Given the description of an element on the screen output the (x, y) to click on. 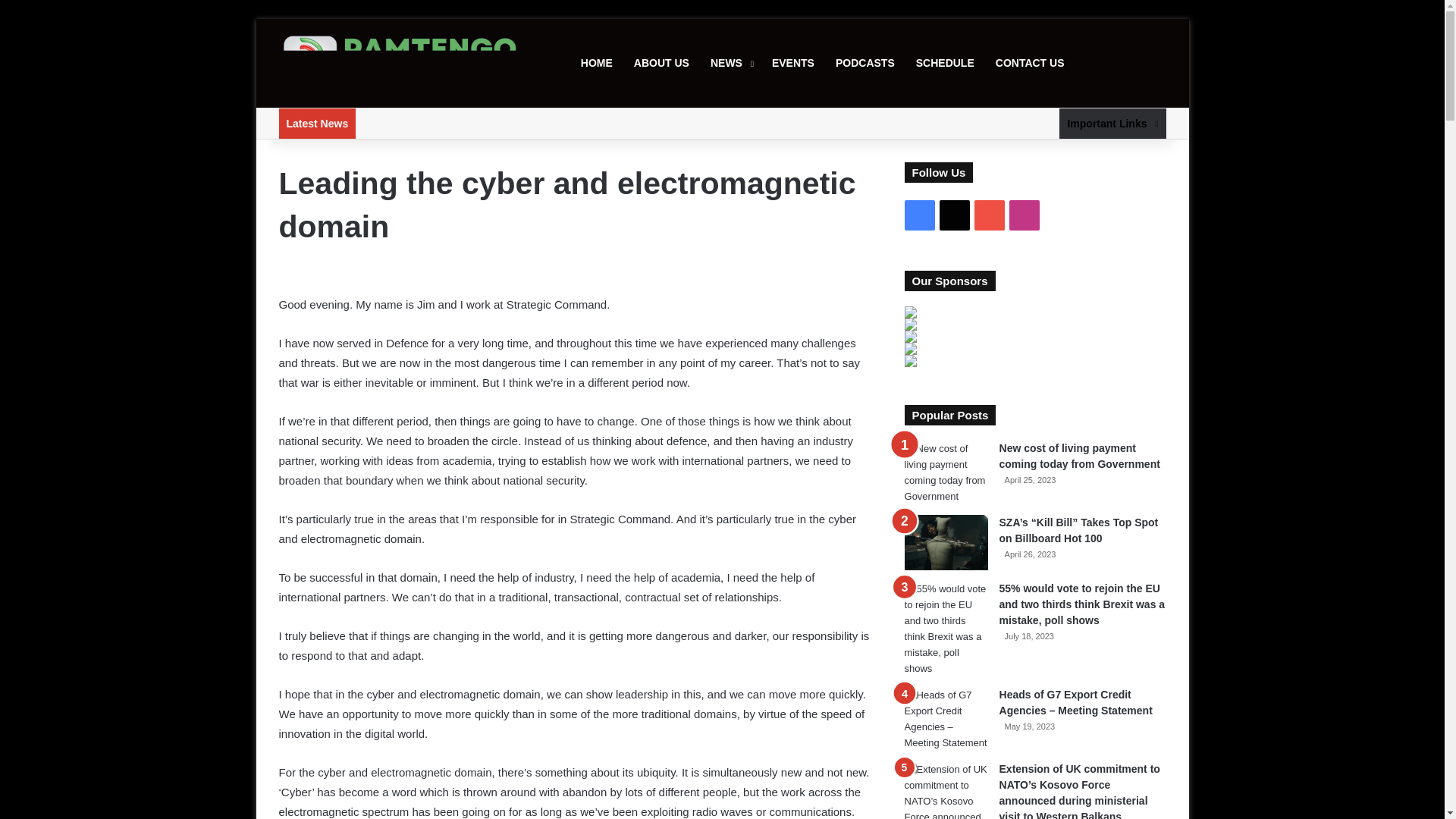
Important Links (1112, 123)
CONTACT US (1030, 62)
PAMTENGO RADIO (400, 63)
SCHEDULE (945, 62)
PODCASTS (865, 62)
